Given the description of an element on the screen output the (x, y) to click on. 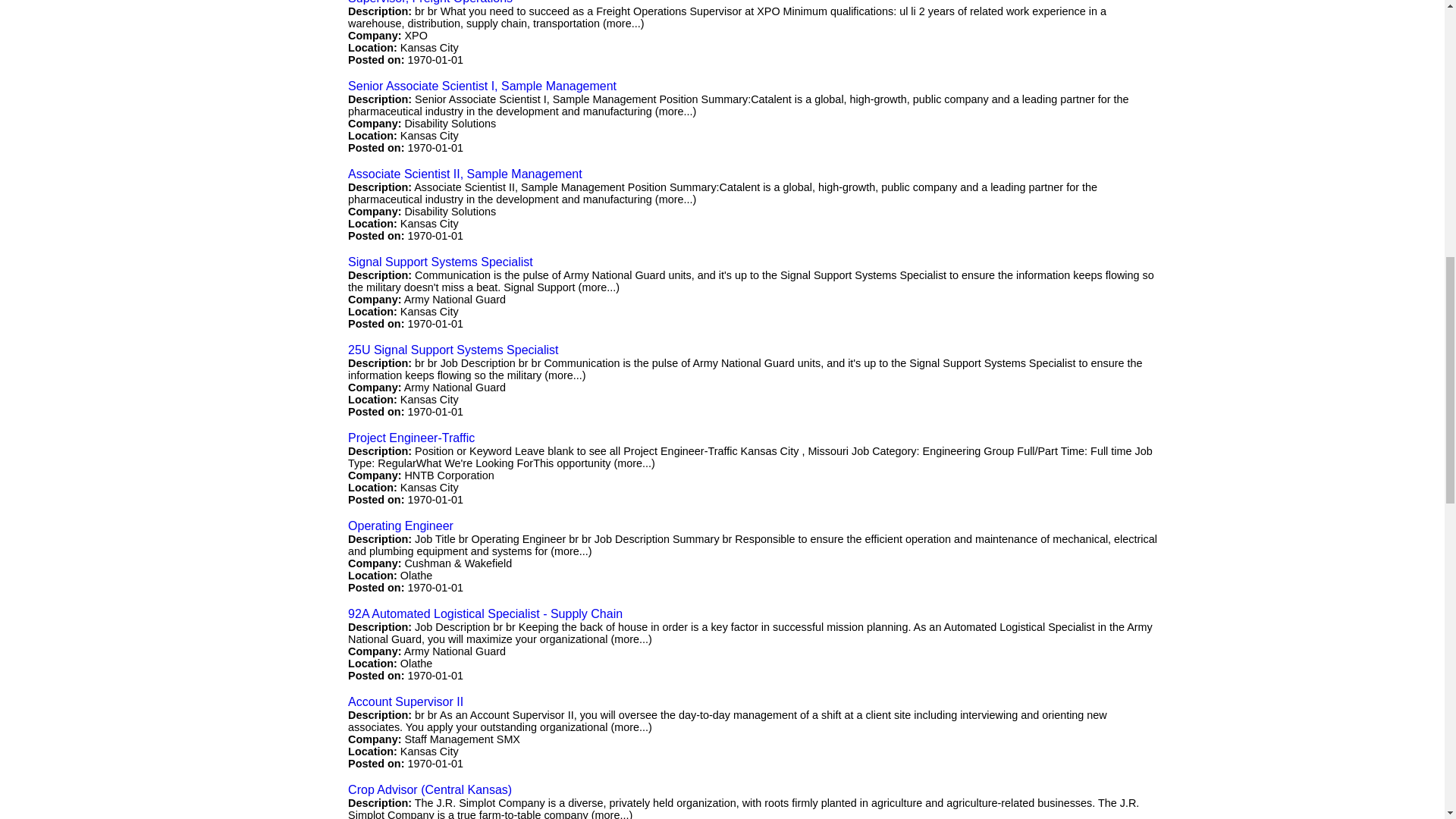
Project Engineer-Traffic (410, 437)
Signal Support Systems Specialist (439, 261)
25U Signal Support Systems Specialist (452, 349)
92A Automated Logistical Specialist - Supply Chain (485, 613)
Account Supervisor II (405, 701)
Senior Associate Scientist I, Sample Management (481, 85)
Operating Engineer (399, 525)
Associate Scientist II, Sample Management (464, 173)
Supervisor, Freight Operations (429, 2)
